Given the description of an element on the screen output the (x, y) to click on. 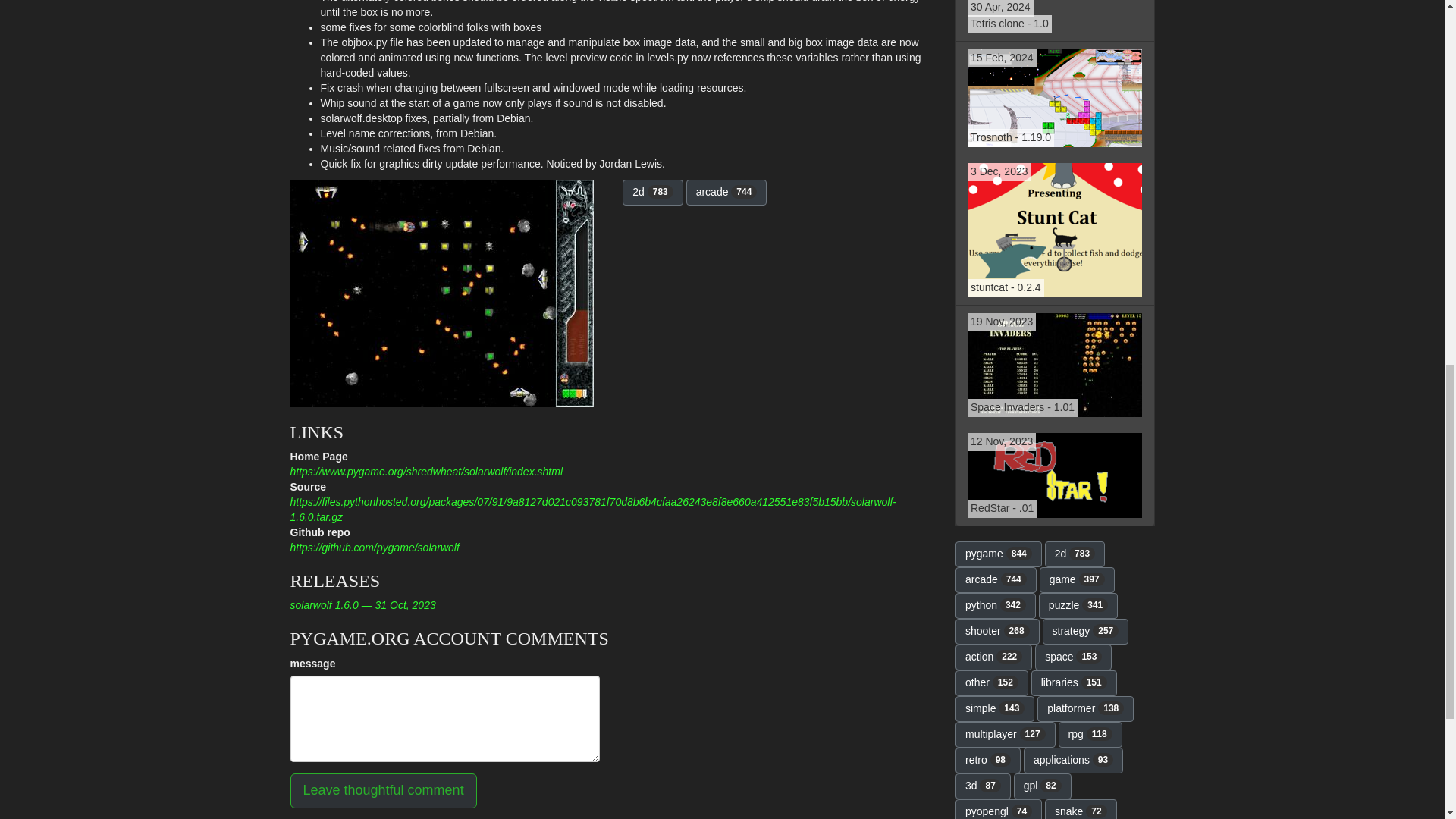
Leave thoughtful comment (1054, 20)
a shmup survivor like game (1054, 97)
A clone of tetris made by pygame (382, 790)
arcade 744 (1054, 475)
Free side-scrolling team action game. (1054, 20)
